Given the description of an element on the screen output the (x, y) to click on. 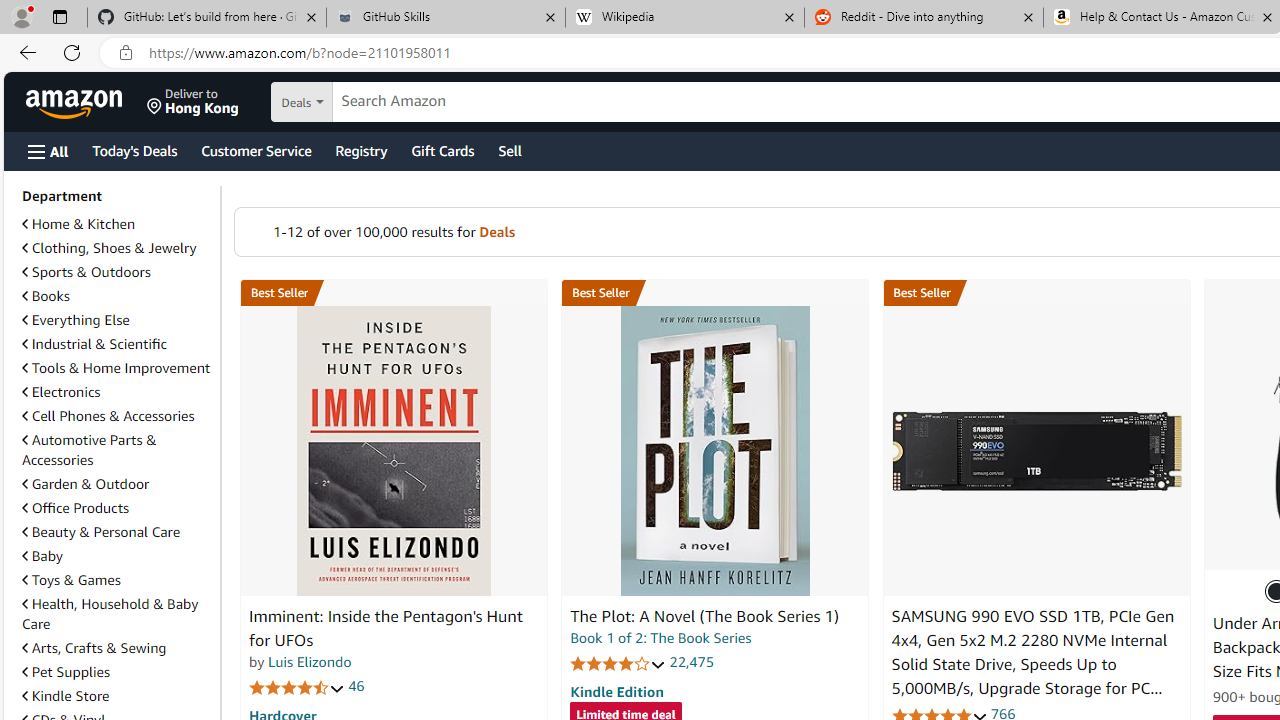
Open Menu (48, 151)
Clothing, Shoes & Jewelry (117, 247)
Sports & Outdoors (117, 272)
Arts, Crafts & Sewing (93, 647)
Electronics (117, 391)
Cell Phones & Accessories (107, 415)
Industrial & Scientific (117, 344)
Health, Household & Baby Care (109, 613)
Search in (371, 102)
Industrial & Scientific (94, 343)
Wikipedia (684, 17)
Imminent: Inside the Pentagon's Hunt for UFOs (386, 628)
Office Products (117, 507)
